Given the description of an element on the screen output the (x, y) to click on. 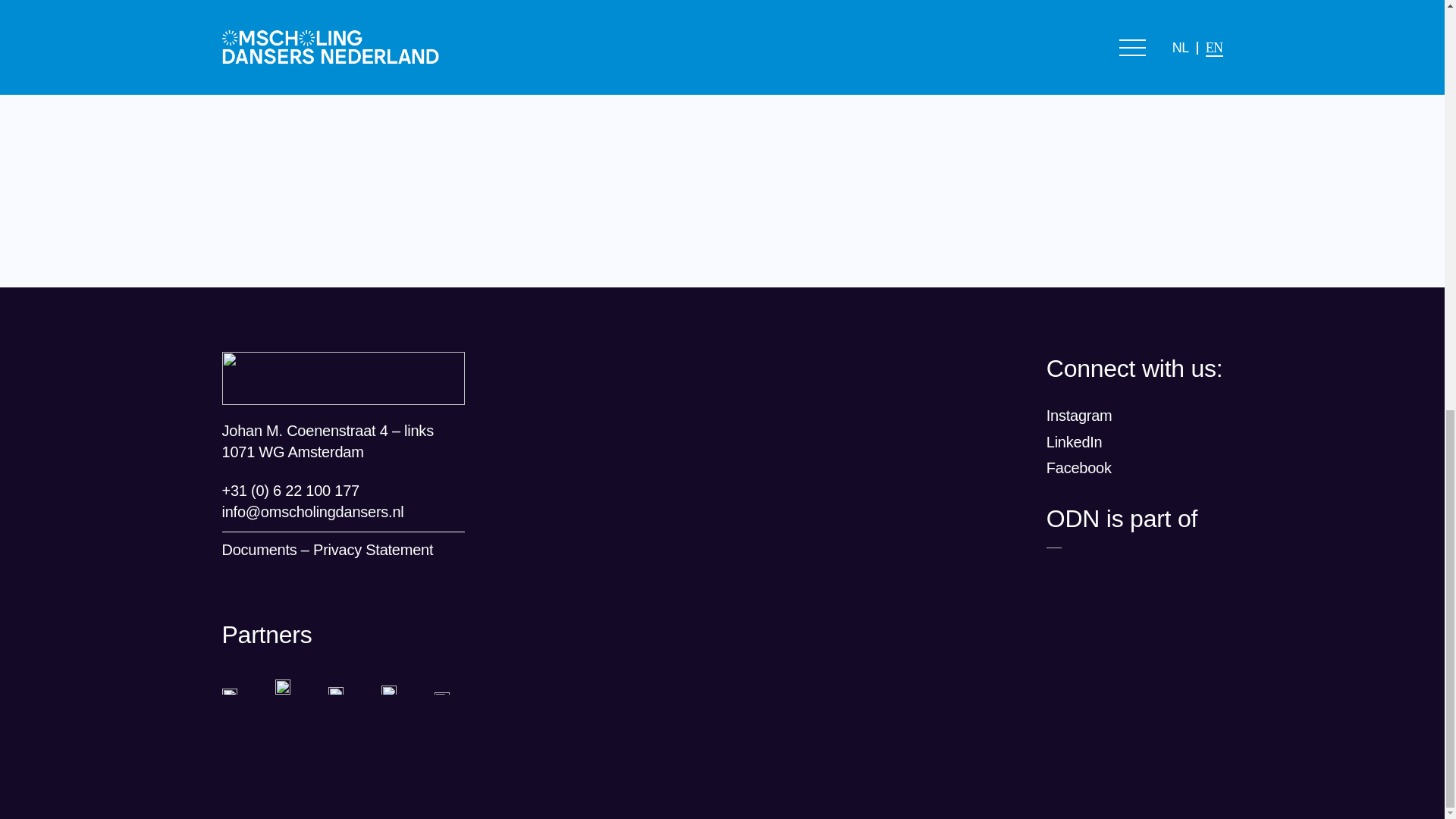
Facebook (1079, 467)
LinkedIn (1074, 442)
LOF Logo FULL (1053, 545)
ODN Logo (342, 378)
Privacy Statement (372, 549)
Instagram (1079, 415)
Documents (259, 549)
